Given the description of an element on the screen output the (x, y) to click on. 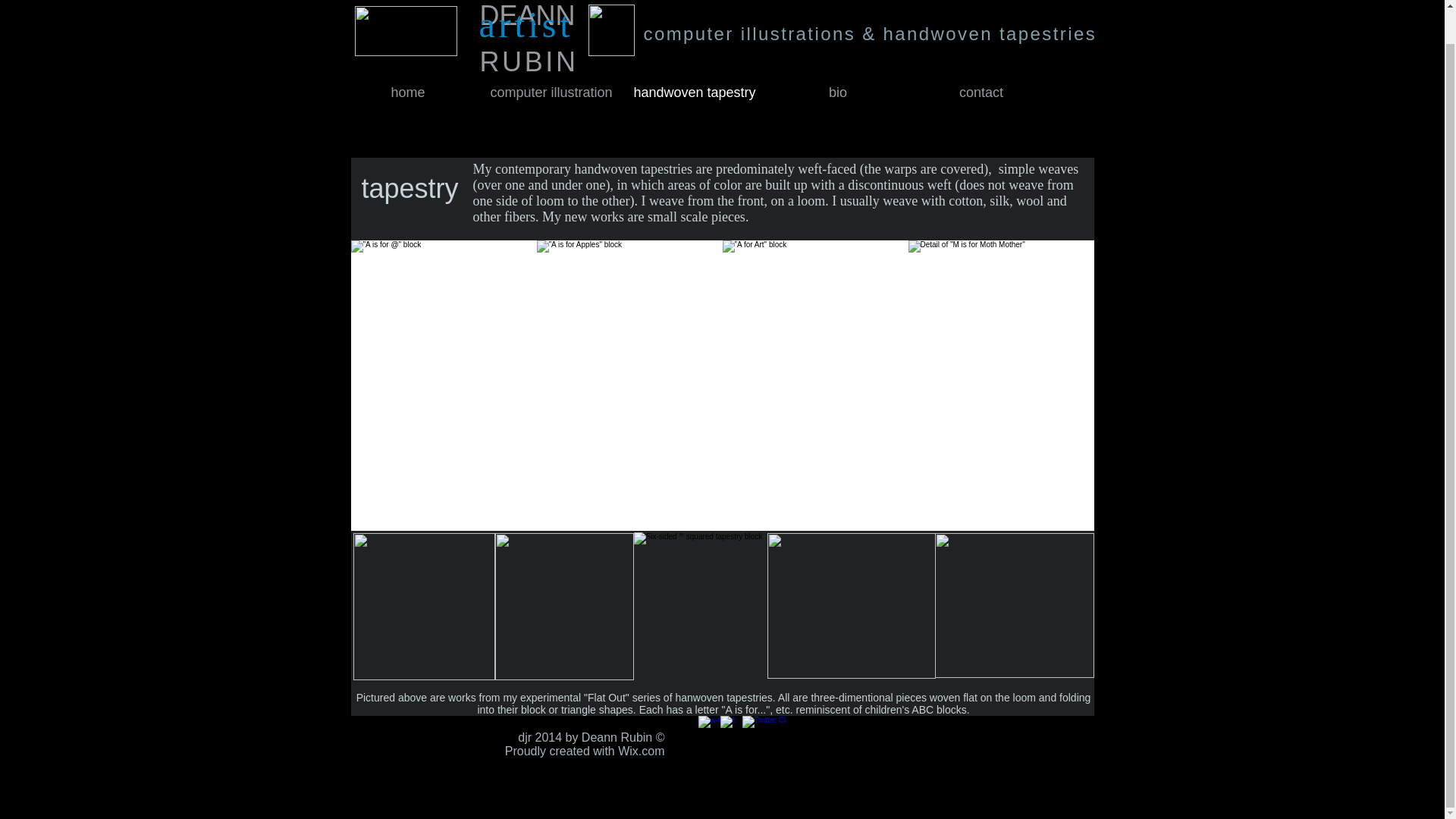
"Y is for Why" block (851, 605)
Wix.com (640, 750)
home (408, 92)
computer illustration (551, 92)
"A is for Apple" block another view (564, 606)
another view of "Y os for Why" block (1013, 605)
bio (836, 92)
contact (981, 92)
handwoven tapestry (695, 92)
"J is for Jester" block (700, 605)
